Given the description of an element on the screen output the (x, y) to click on. 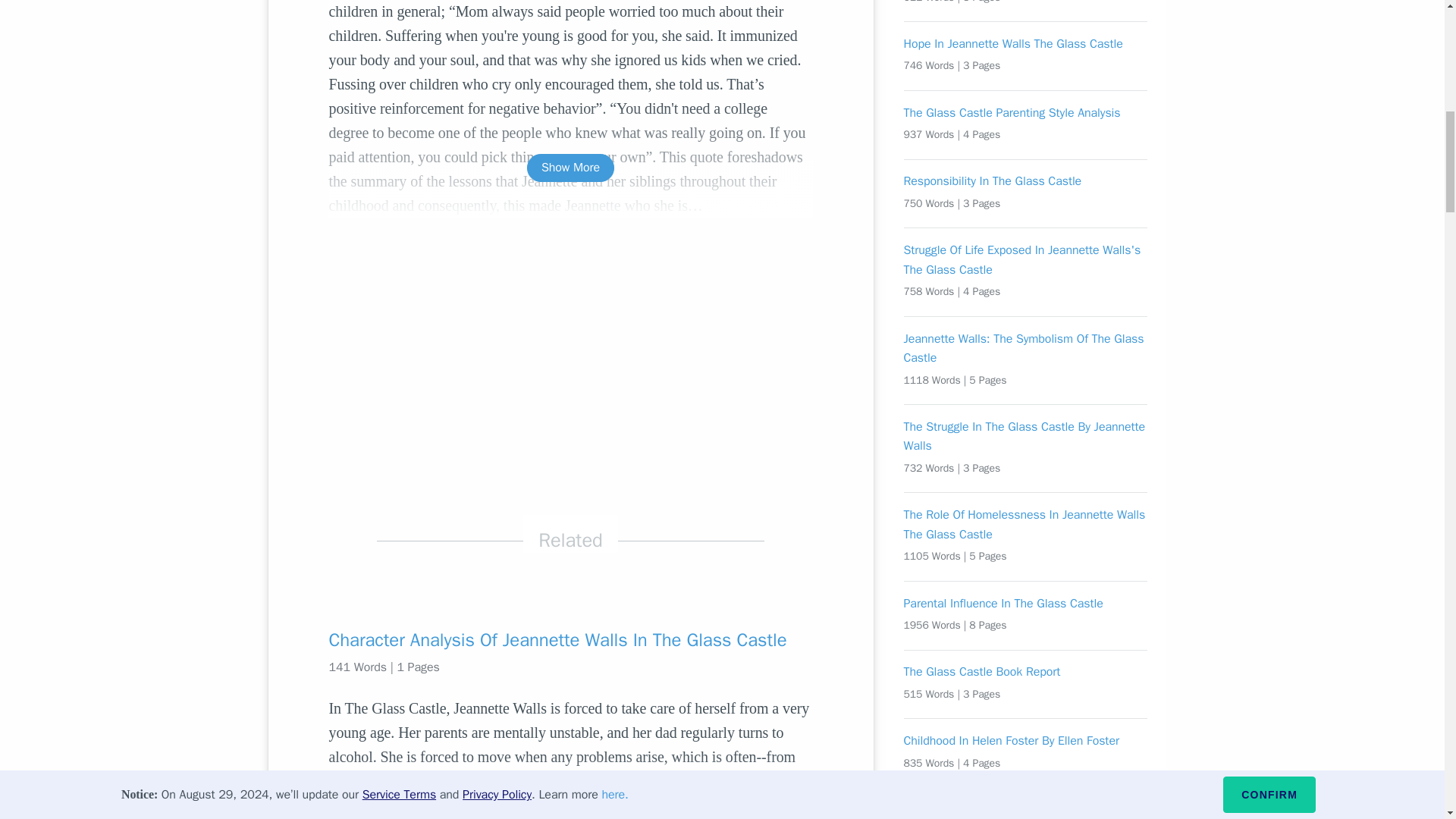
Read More (569, 810)
Show More (570, 167)
Character Analysis Of Jeannette Walls In The Glass Castle (570, 639)
